Given the description of an element on the screen output the (x, y) to click on. 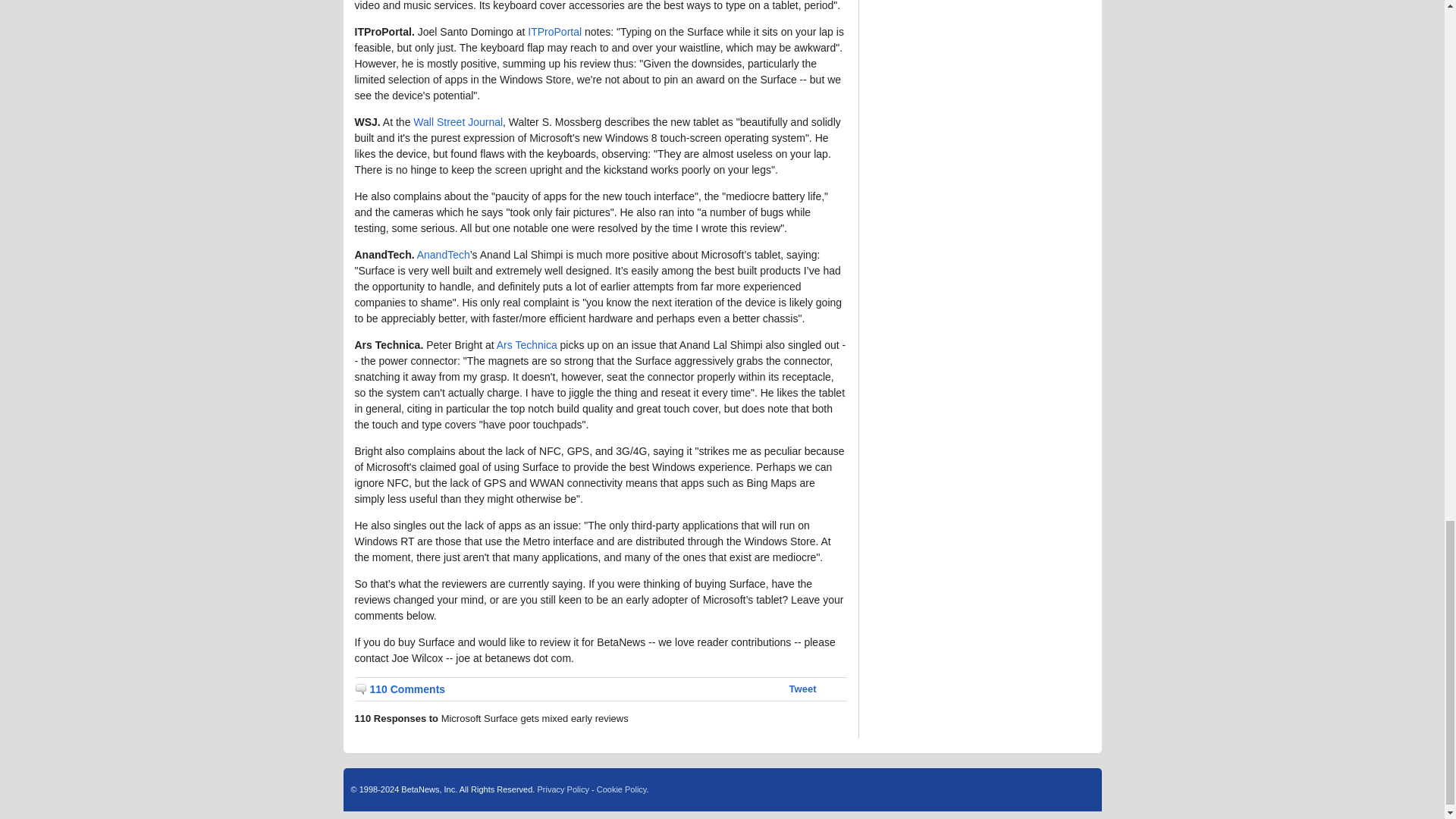
AnandTech (443, 254)
Ars Technica (526, 345)
ITProPortal (553, 31)
Tweet (802, 688)
Wall Street Journal (457, 121)
110 Comments (400, 688)
